Given the description of an element on the screen output the (x, y) to click on. 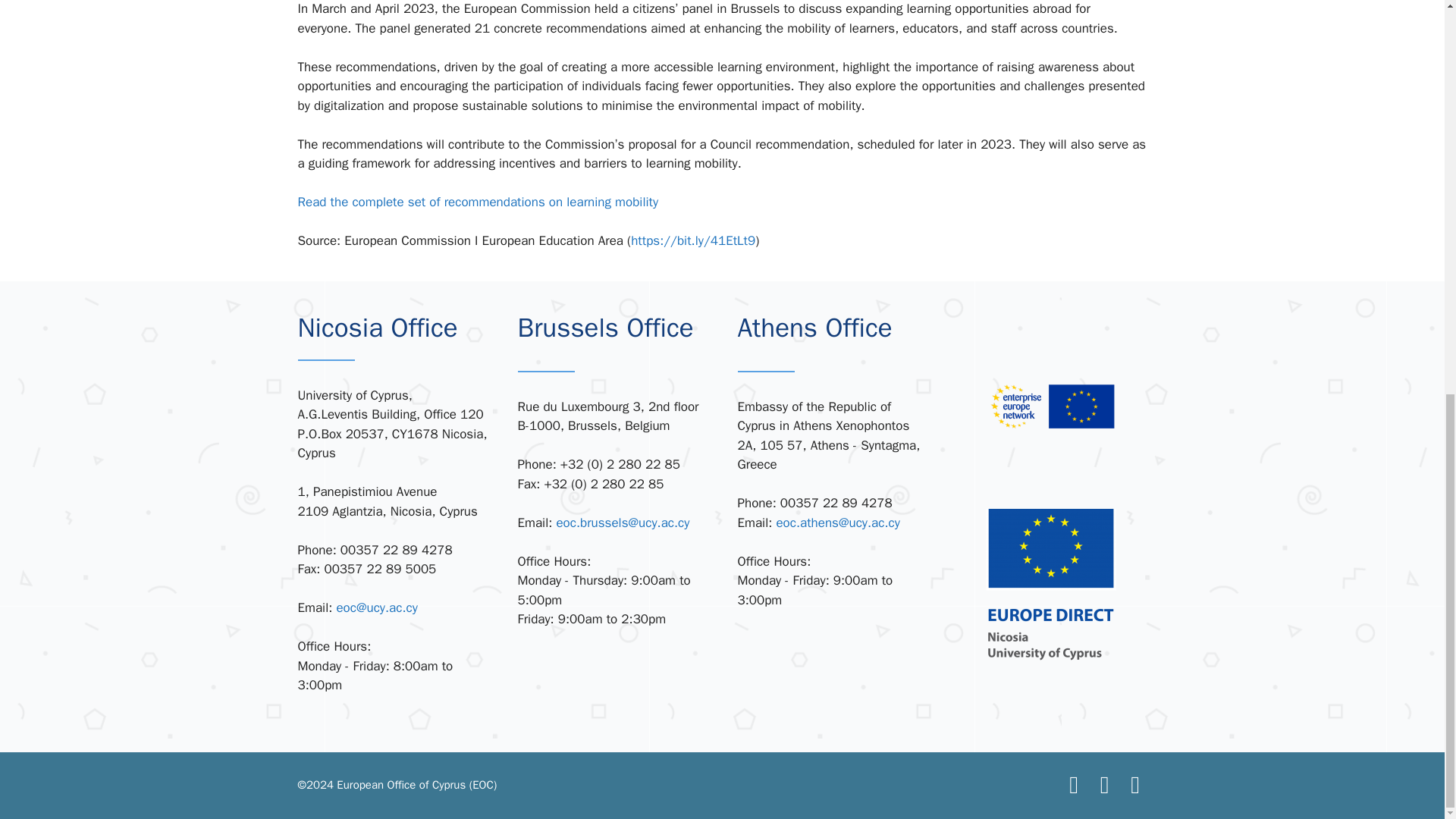
een 200x200 transp (1052, 406)
Scroll back to top (1406, 780)
